Given the description of an element on the screen output the (x, y) to click on. 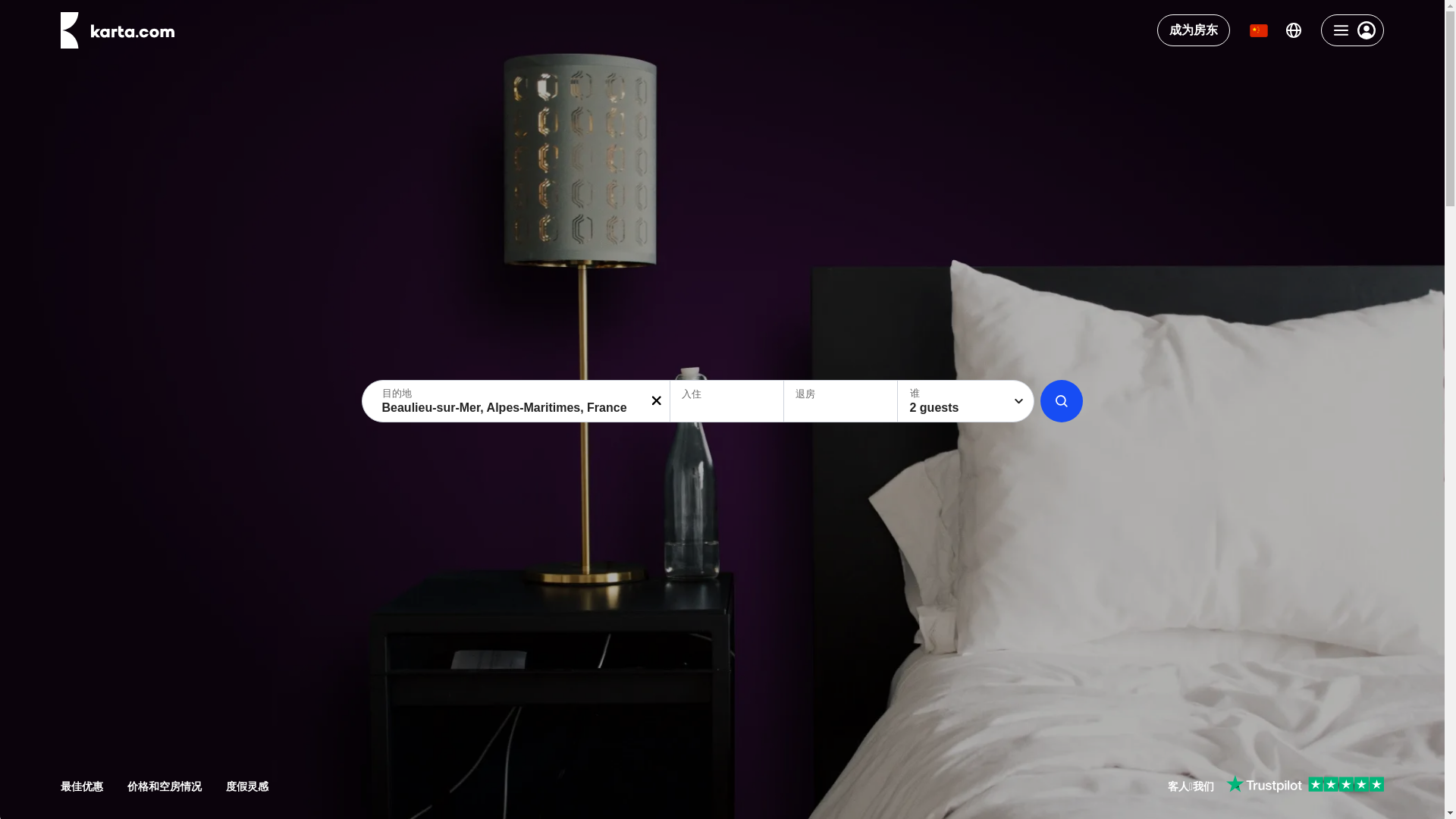
2 guests (966, 400)
Beaulieu-sur-Mer, Alpes-Maritimes, France (516, 400)
2 guests (966, 400)
Beaulieu-sur-Mer, Alpes-Maritimes, France (516, 400)
